Given the description of an element on the screen output the (x, y) to click on. 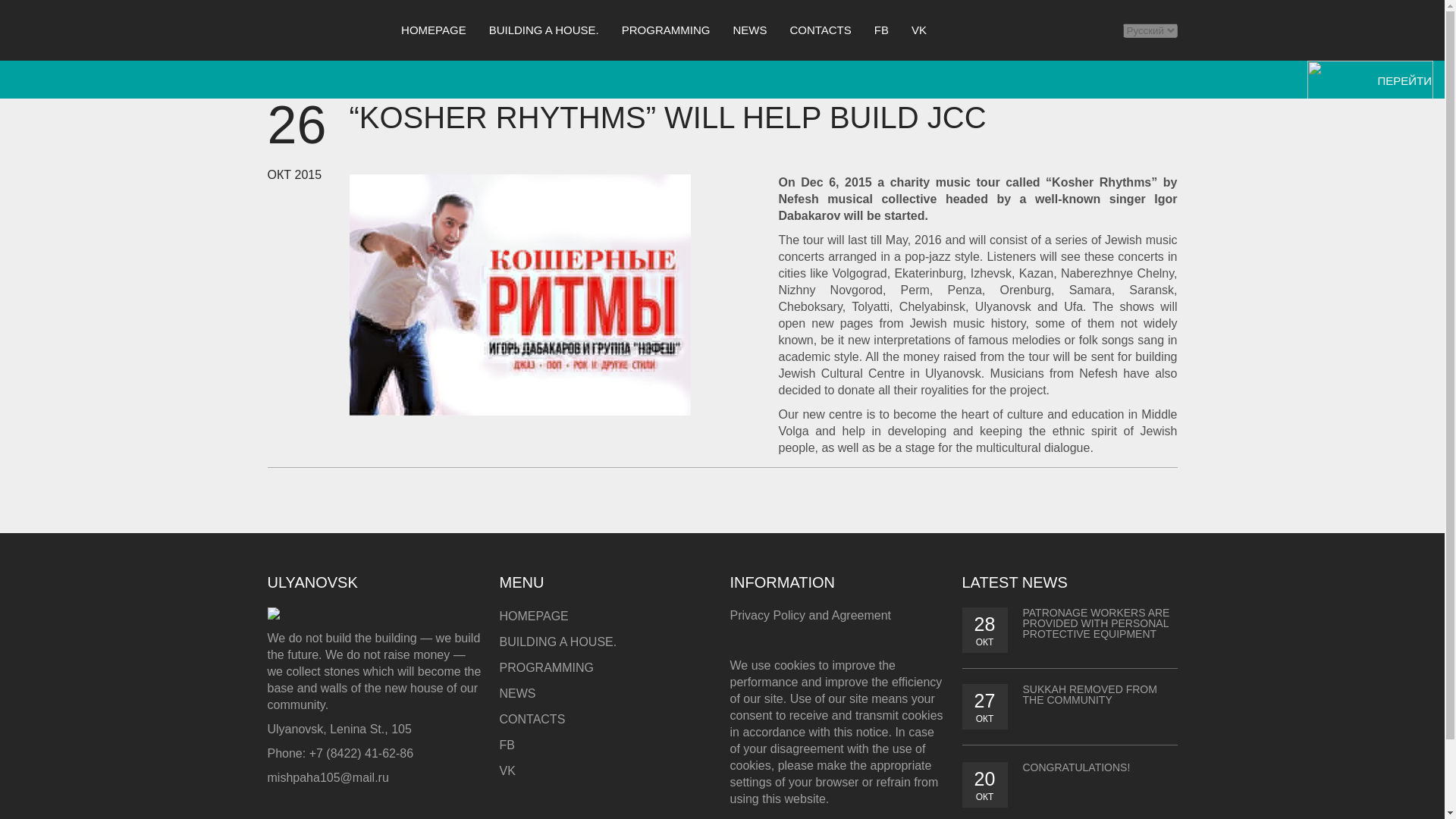
PROGRAMMING (545, 667)
SUKKAH REMOVED FROM THE COMMUNITY (1089, 694)
CONTACTS (531, 718)
VK (507, 770)
PROGRAMMING (666, 30)
Agreement (861, 615)
BUILDING A HOUSE. (543, 30)
NEWS (748, 30)
HOMEPAGE (433, 30)
HOMEPAGE (533, 615)
